Given the description of an element on the screen output the (x, y) to click on. 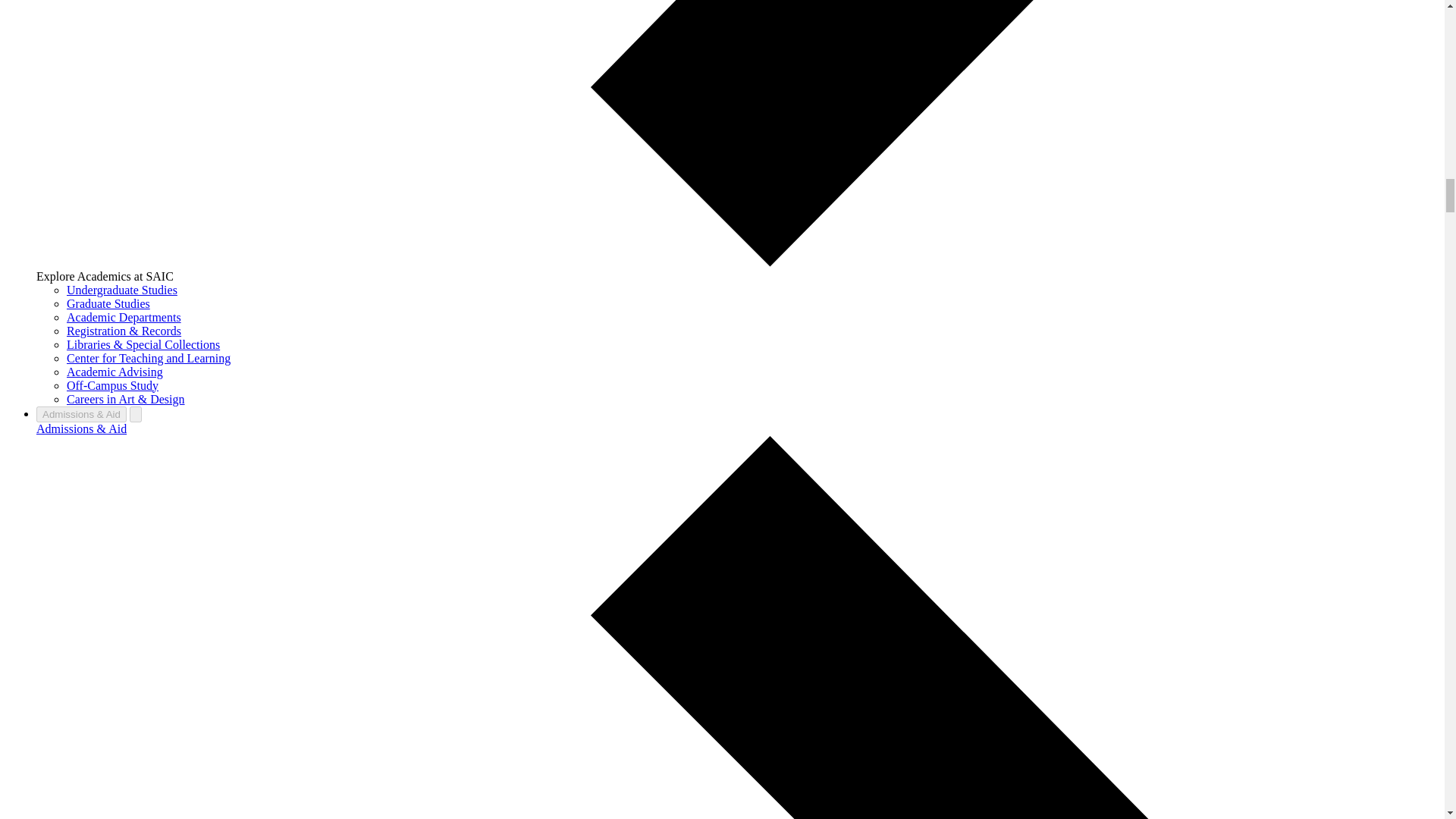
Academic Advising (114, 371)
Academic Departments (123, 317)
Undergraduate Studies (121, 289)
Center for Teaching and Learning (148, 358)
Graduate Studies (107, 303)
Off-Campus Study (112, 385)
